Given the description of an element on the screen output the (x, y) to click on. 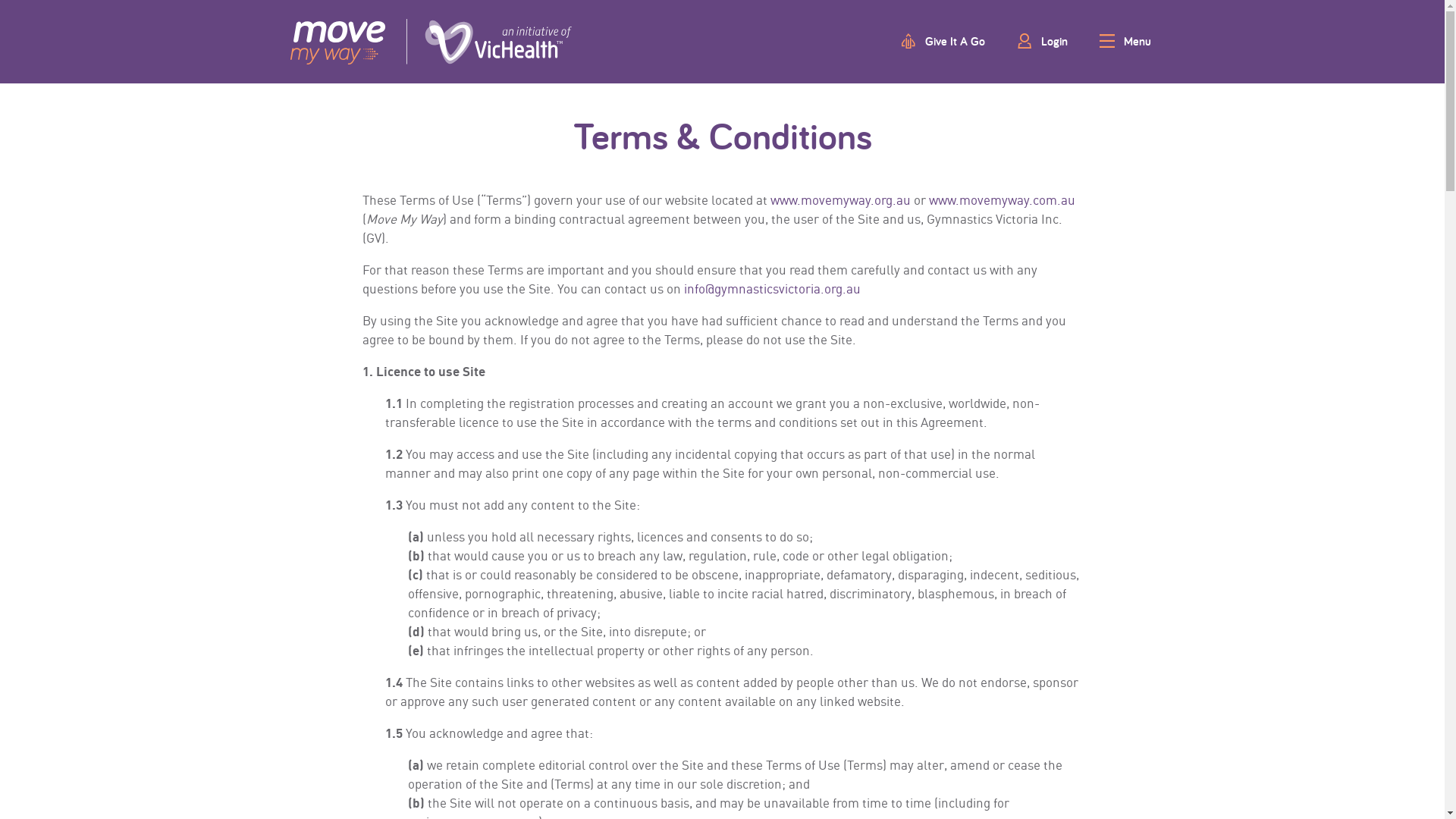
Move My Way Element type: text (430, 41)
Menu Element type: text (1125, 41)
Login Element type: text (1042, 41)
info@gymnasticsvictoria.org.au Element type: text (772, 288)
www.movemyway.org.au Element type: text (840, 199)
Give It A Go Element type: text (943, 41)
www.movemyway.com.au Element type: text (1001, 199)
